Given the description of an element on the screen output the (x, y) to click on. 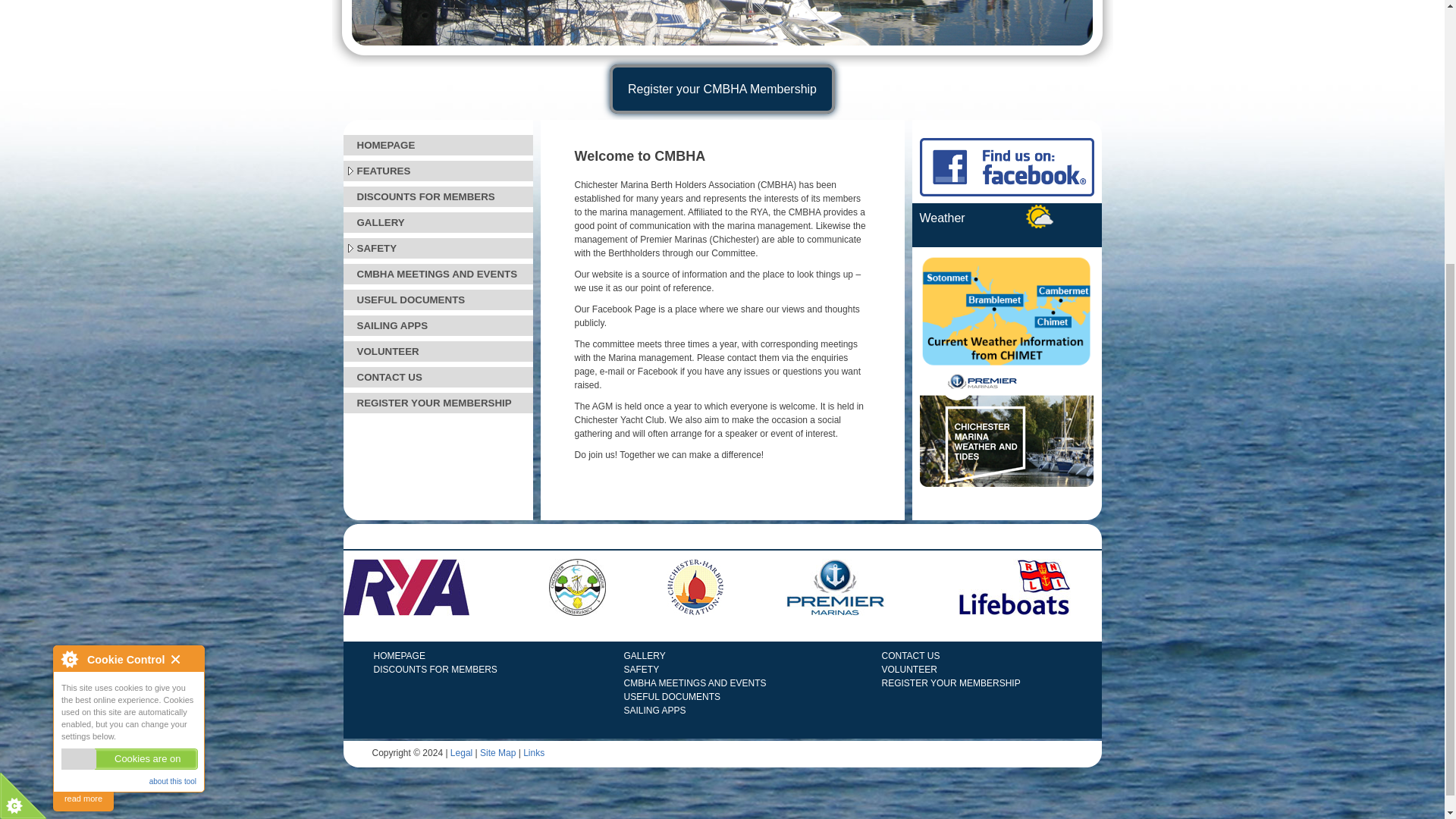
SAFETY (437, 248)
DISCOUNTS FOR MEMBERS (437, 196)
USEFUL DOCUMENTS (437, 299)
Register your Membership (722, 88)
Cookies are on (129, 369)
Register your CMBHA Membership (722, 88)
REGISTER YOUR MEMBERSHIP (437, 403)
CONTACT US (437, 376)
VOLUNTEER (437, 351)
CMBHA MEETINGS AND EVENTS (437, 273)
